Given the description of an element on the screen output the (x, y) to click on. 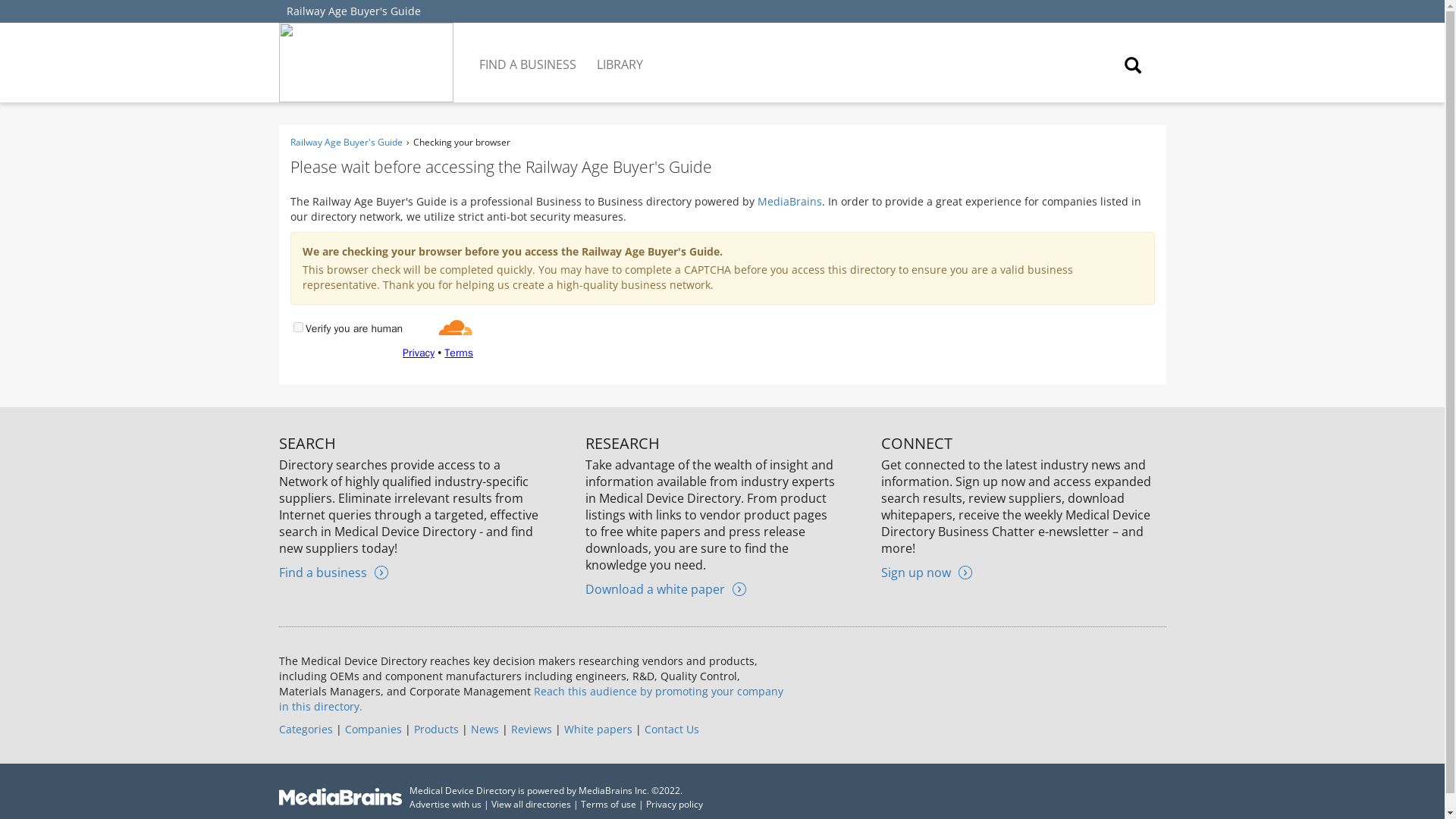
White papers (597, 728)
FIND A BUSINESS (528, 52)
Companies (372, 728)
Railway Age Buyer's Guide (353, 11)
Categories (306, 728)
Products (435, 728)
View all directories (531, 803)
MediaBrains (789, 201)
Privacy policy (674, 803)
News (483, 728)
Contact Us (671, 728)
LIBRARY (620, 52)
Download a white paper (665, 588)
Advertise with us (445, 803)
